Given the description of an element on the screen output the (x, y) to click on. 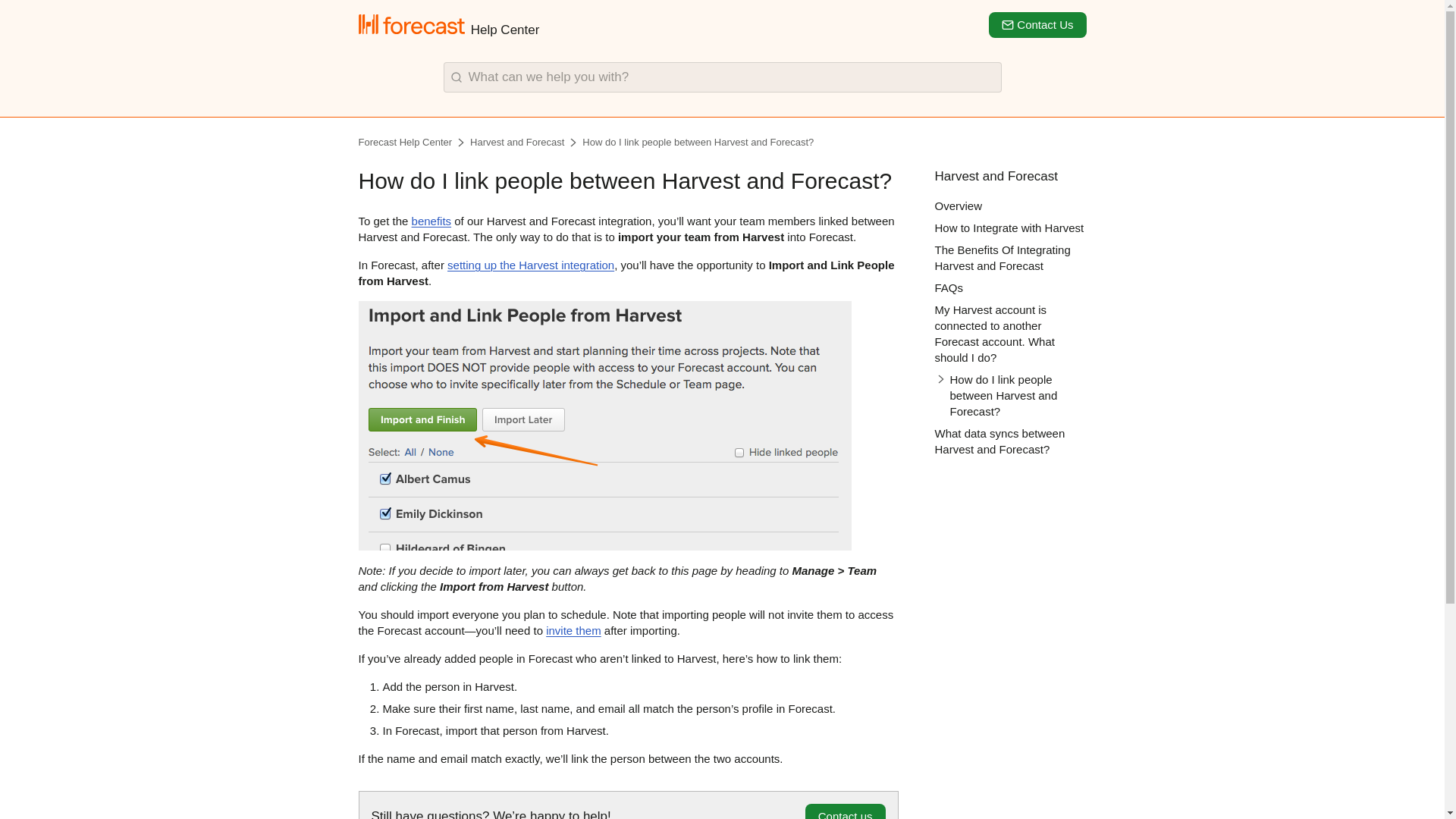
invite them (573, 630)
Harvest and Forecast (524, 142)
What data syncs between Harvest and Forecast? (999, 440)
Contact Us (1037, 24)
How do I link people between Harvest and Forecast? (1010, 395)
How do I link people between Harvest and Forecast? (697, 142)
Forecast Help Center (412, 142)
Help Center (448, 24)
Forecast Help Center (412, 142)
Contact us (845, 811)
The Benefits Of Integrating Harvest and Forecast (1002, 257)
How do I link people between Harvest and Forecast? (697, 142)
setting up the Harvest integration (530, 264)
